Given the description of an element on the screen output the (x, y) to click on. 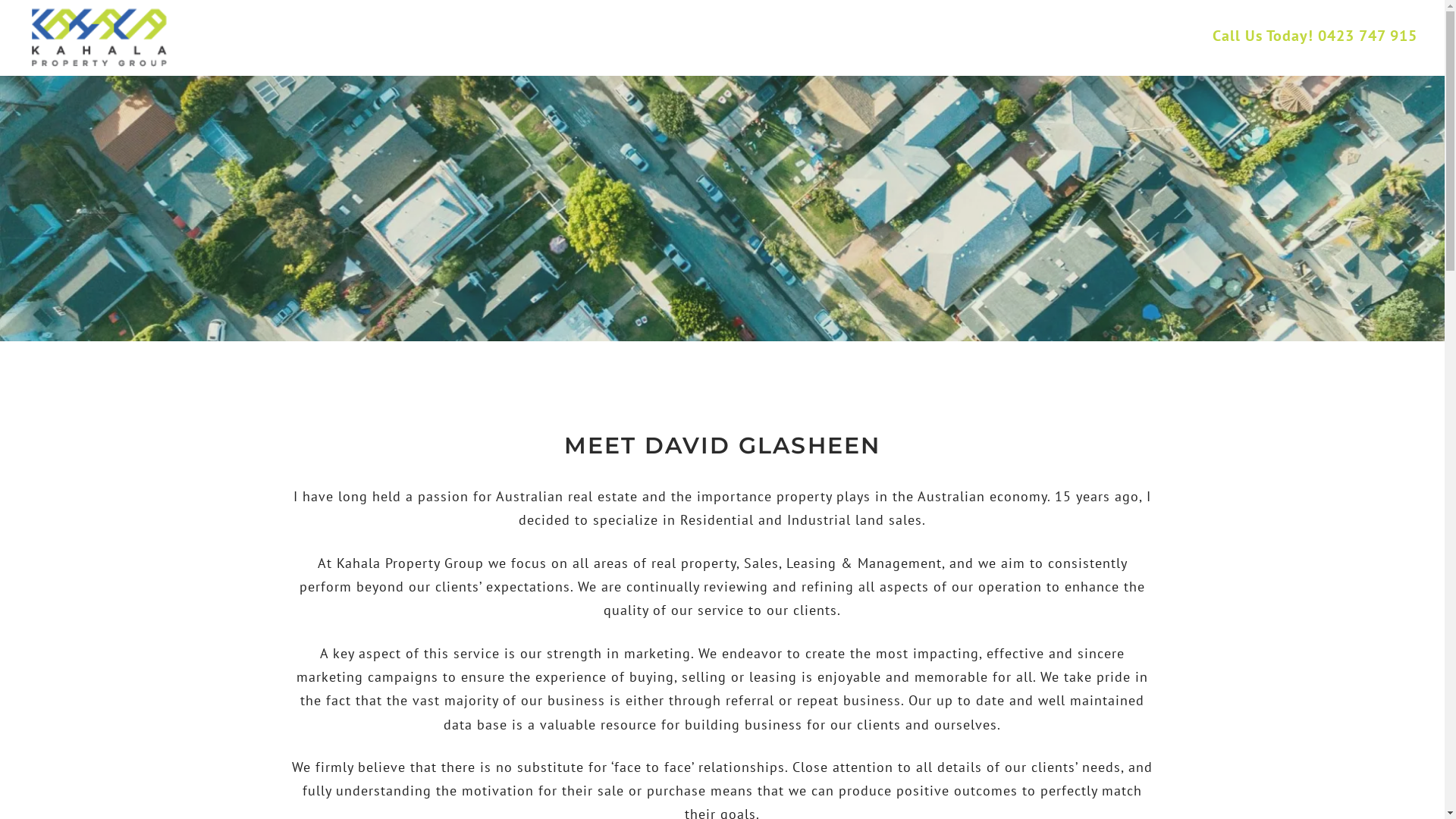
Call Us Today! 0423 747 915 Element type: text (1314, 37)
